Given the description of an element on the screen output the (x, y) to click on. 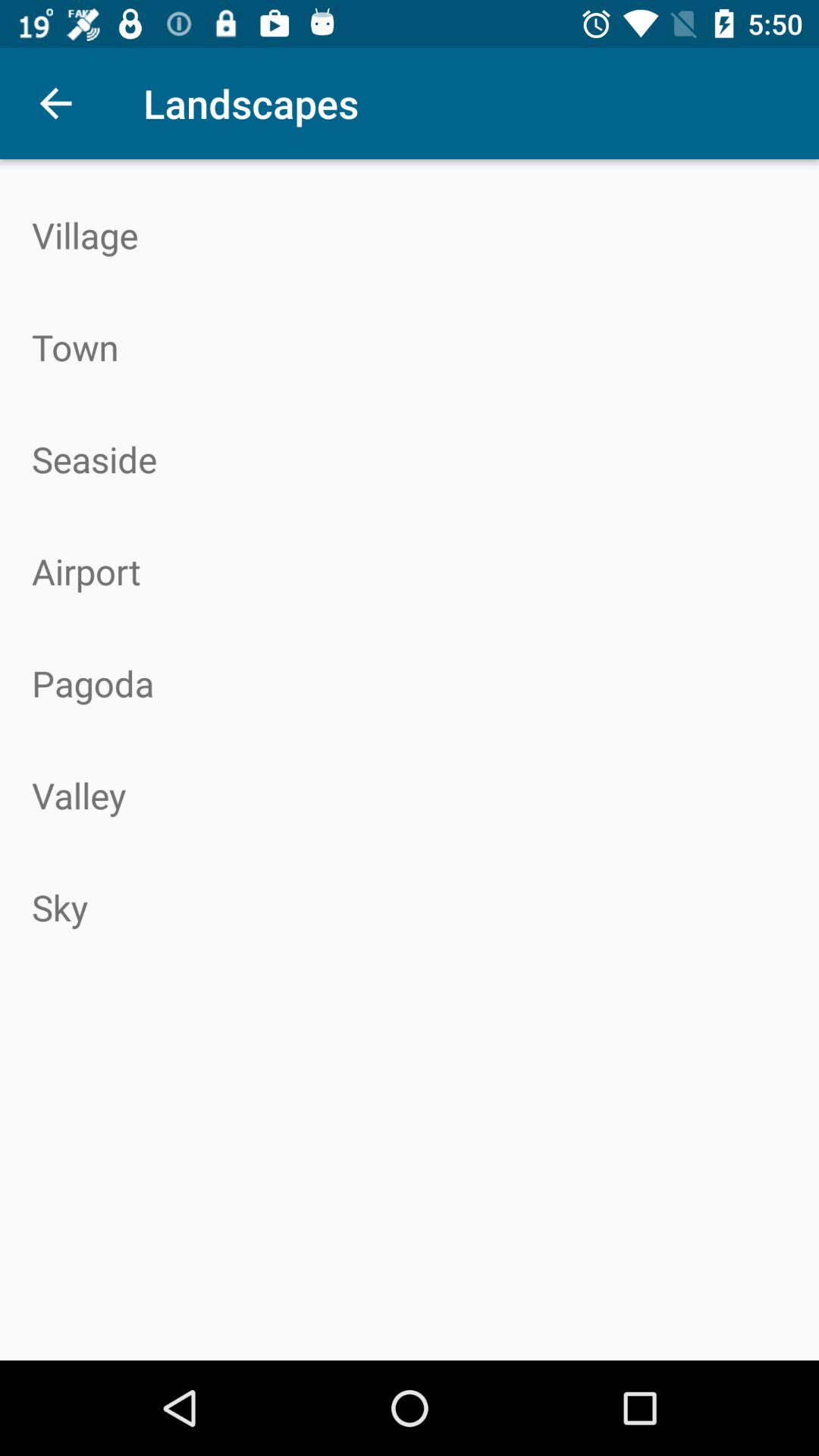
turn on sky (409, 907)
